Given the description of an element on the screen output the (x, y) to click on. 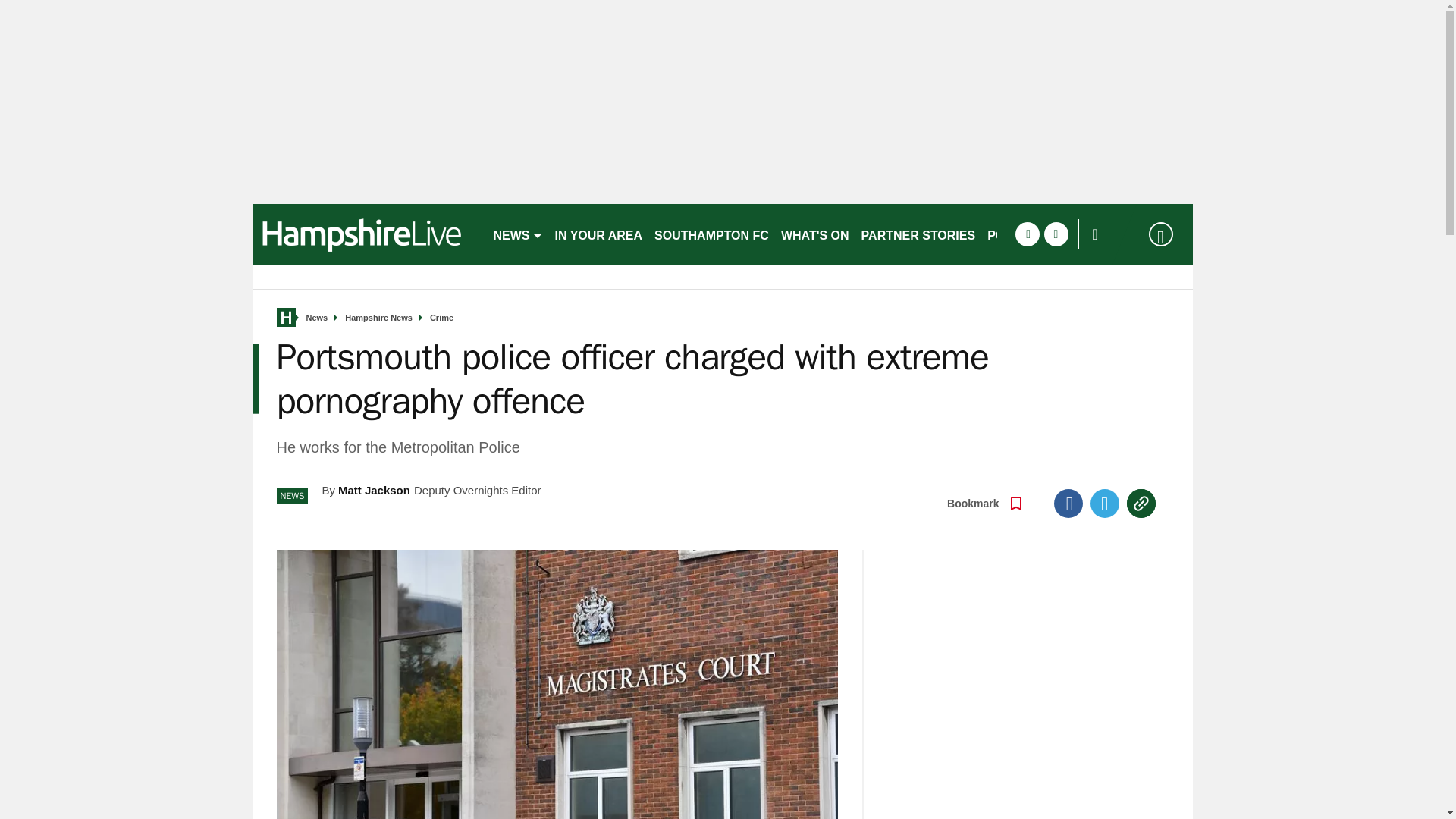
Facebook (1068, 502)
PARTNER STORIES (918, 233)
NEWS (517, 233)
PORTSMOUTH FC (1040, 233)
IN YOUR AREA (598, 233)
hampshirelive (365, 233)
twitter (1055, 233)
SOUTHAMPTON FC (710, 233)
WHAT'S ON (815, 233)
Twitter (1104, 502)
